Given the description of an element on the screen output the (x, y) to click on. 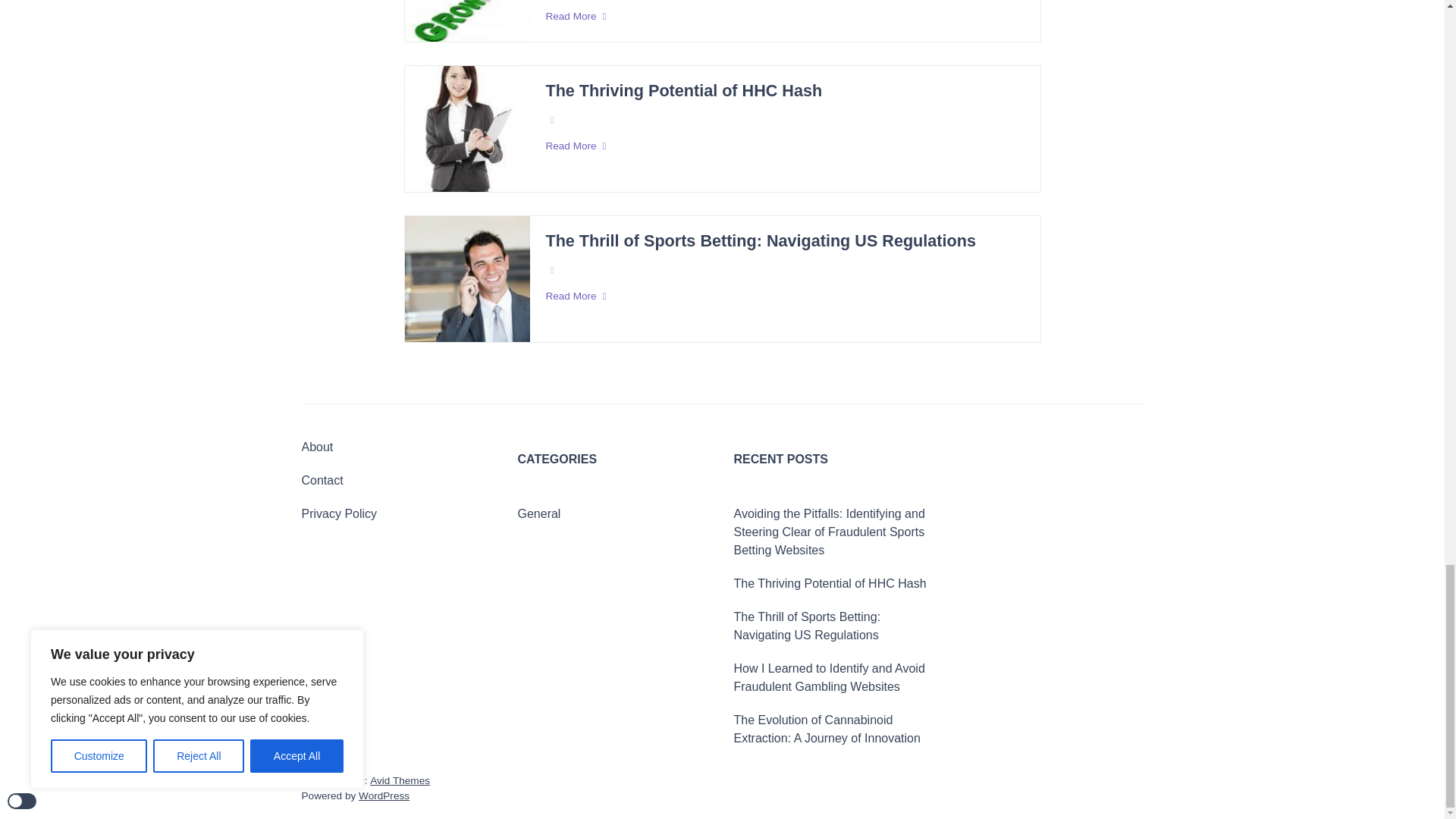
Read More (784, 16)
The Thriving Potential of HHC Hash (683, 91)
The Thrill of Sports Betting: Navigating US Regulations (759, 240)
Read More (784, 145)
